Given the description of an element on the screen output the (x, y) to click on. 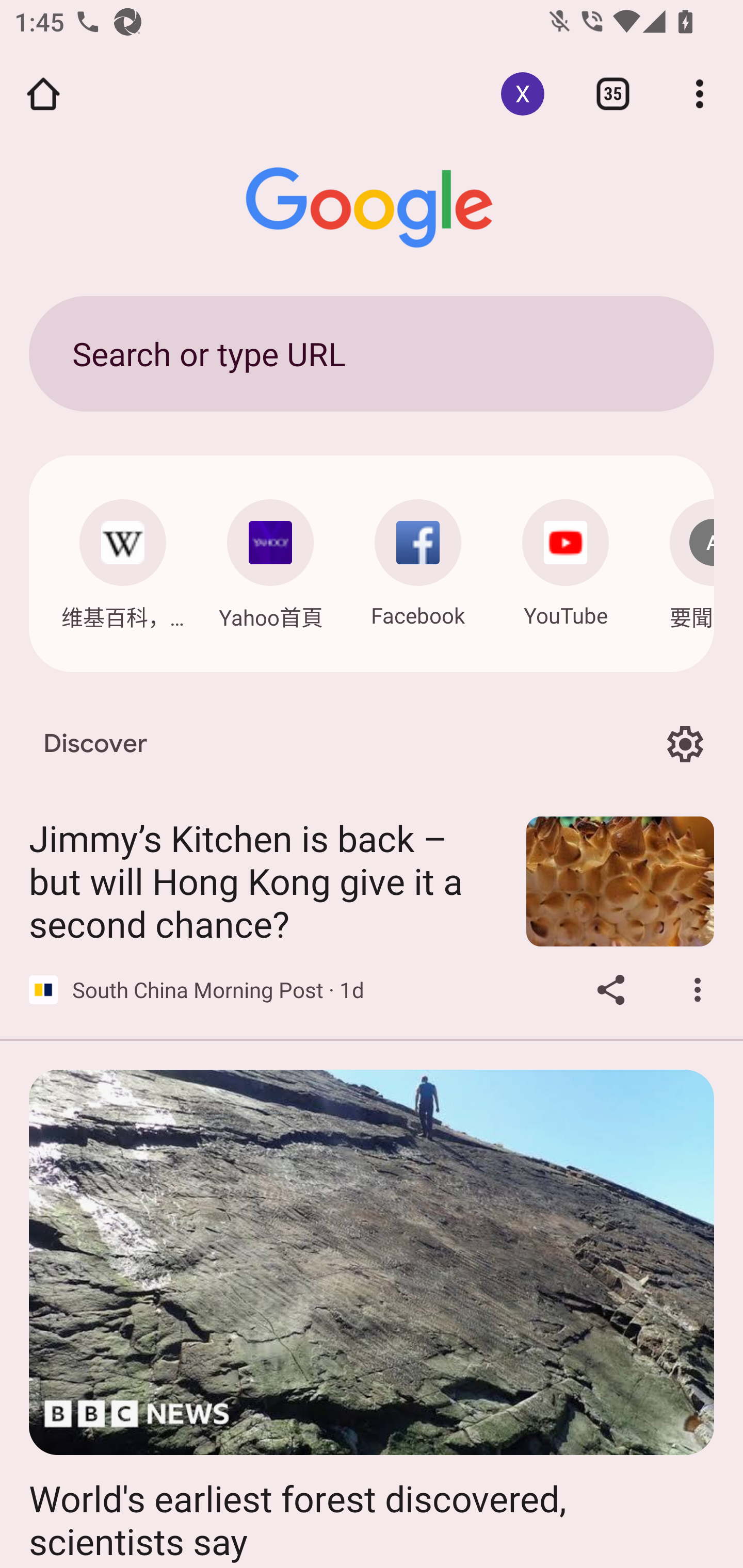
Open the home page (43, 93)
Switch or close tabs (612, 93)
Customize and control Google Chrome (699, 93)
Search or type URL (371, 353)
Navigate: Yahoo首頁: hk.mobi.yahoo.com Yahoo首頁 (270, 558)
Navigate: Facebook: m.facebook.com Facebook (417, 558)
Navigate: YouTube: m.youtube.com YouTube (565, 558)
Options for Discover (684, 743)
